Given the description of an element on the screen output the (x, y) to click on. 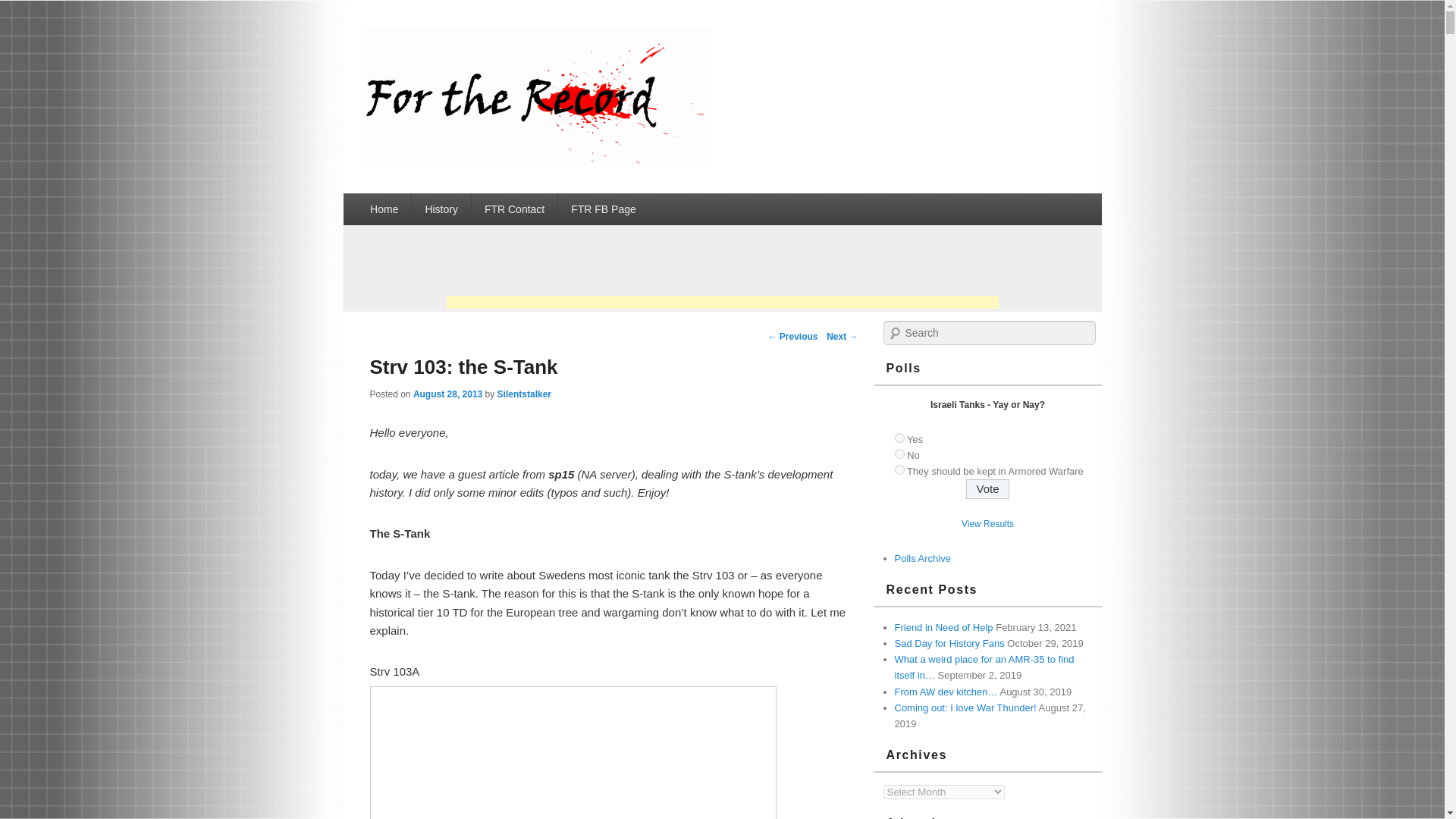
FTR Contact (514, 209)
For the Record (538, 160)
Home (383, 209)
For the Record (462, 45)
Silentstalker (524, 394)
   Vote    (987, 488)
241 (899, 453)
History (441, 209)
FTR FB Page (603, 209)
View all posts by Silentstalker (524, 394)
